Given the description of an element on the screen output the (x, y) to click on. 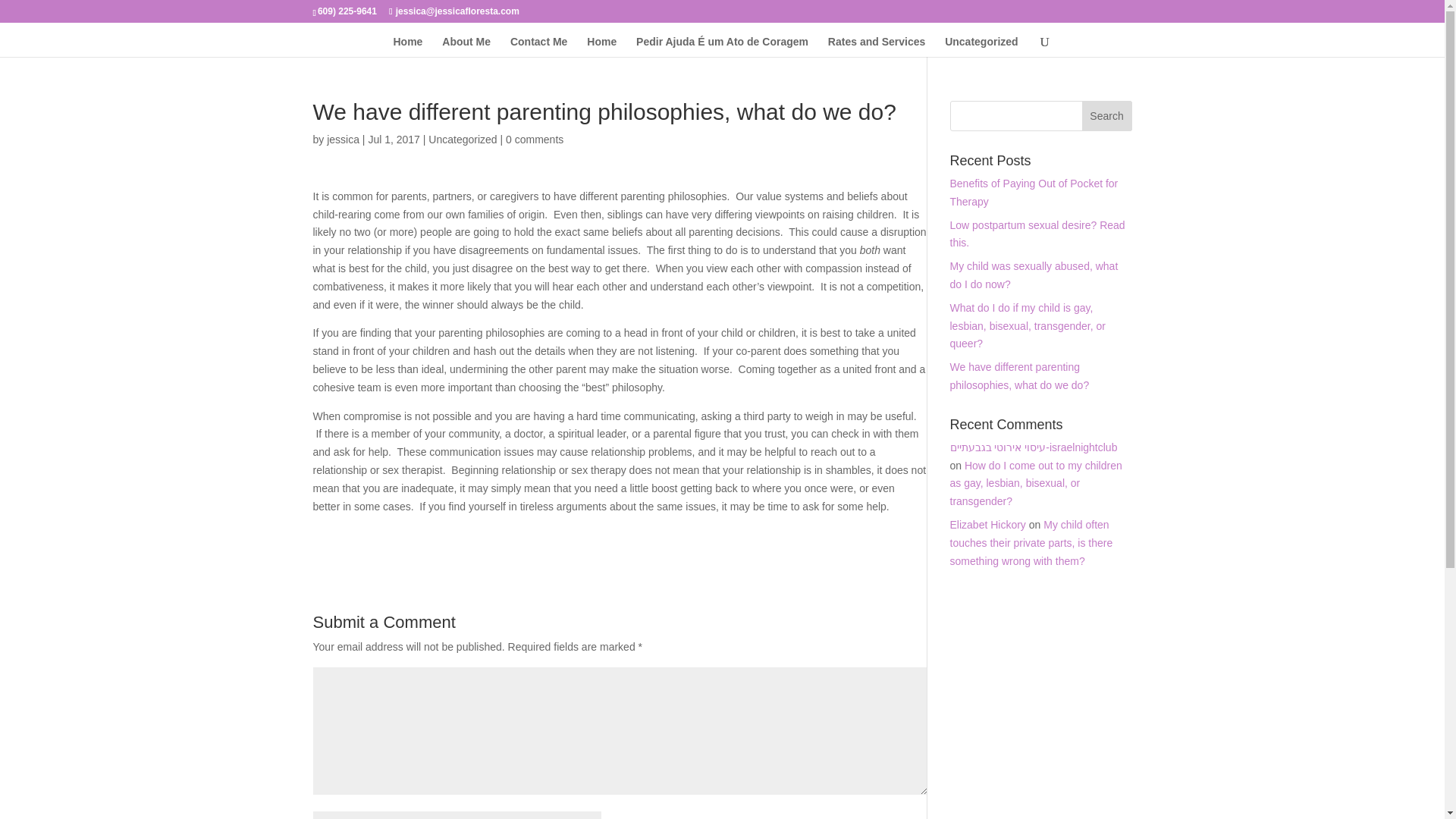
Search (1106, 115)
Contact Me (539, 46)
jessica (342, 139)
0 comments (534, 139)
About Me (466, 46)
Rates and Services (876, 46)
Uncategorized (462, 139)
Uncategorized (980, 46)
Posts by jessica (342, 139)
Home (407, 46)
Home (600, 46)
